Given the description of an element on the screen output the (x, y) to click on. 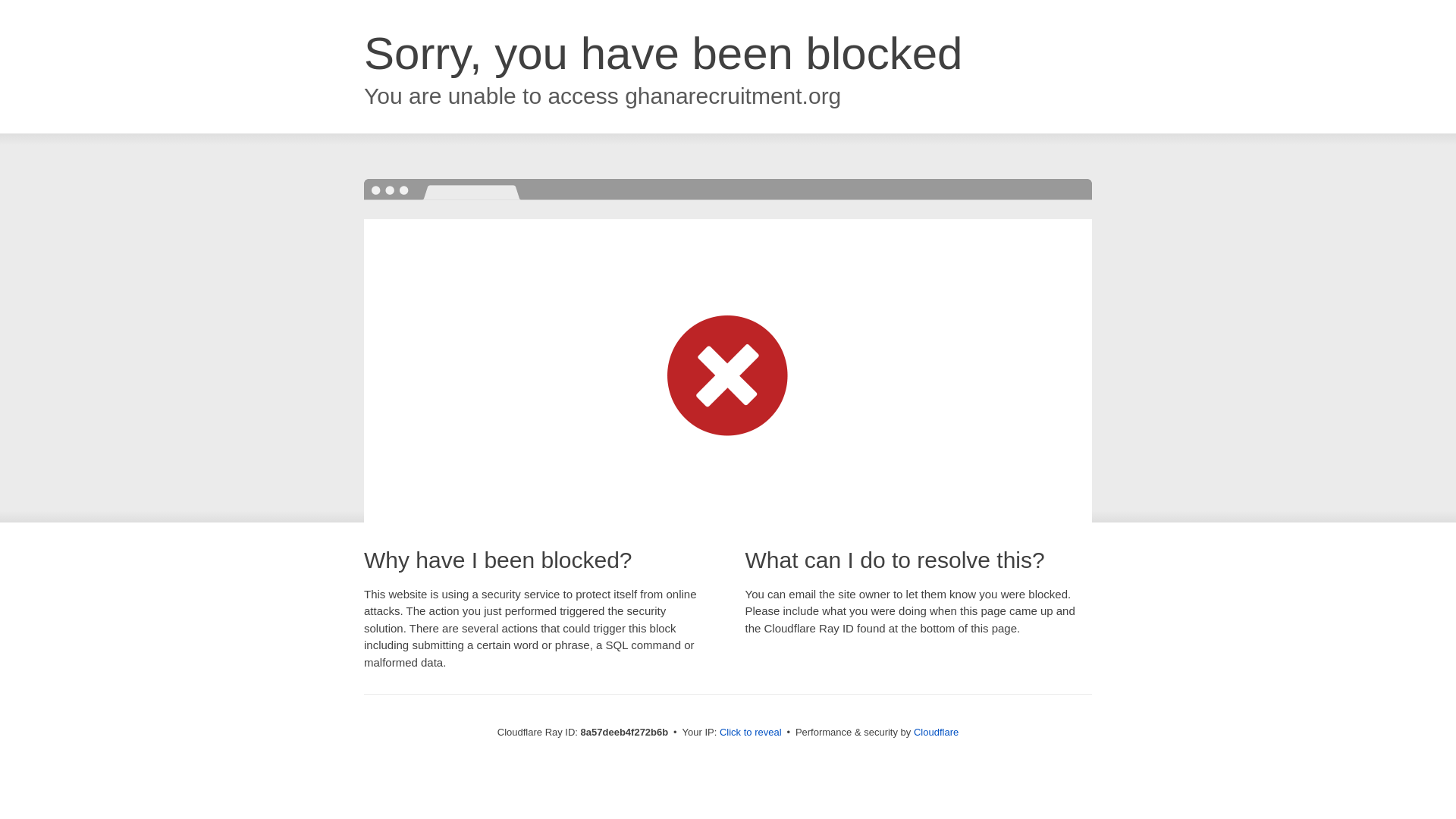
Click to reveal (750, 732)
Cloudflare (936, 731)
